Given the description of an element on the screen output the (x, y) to click on. 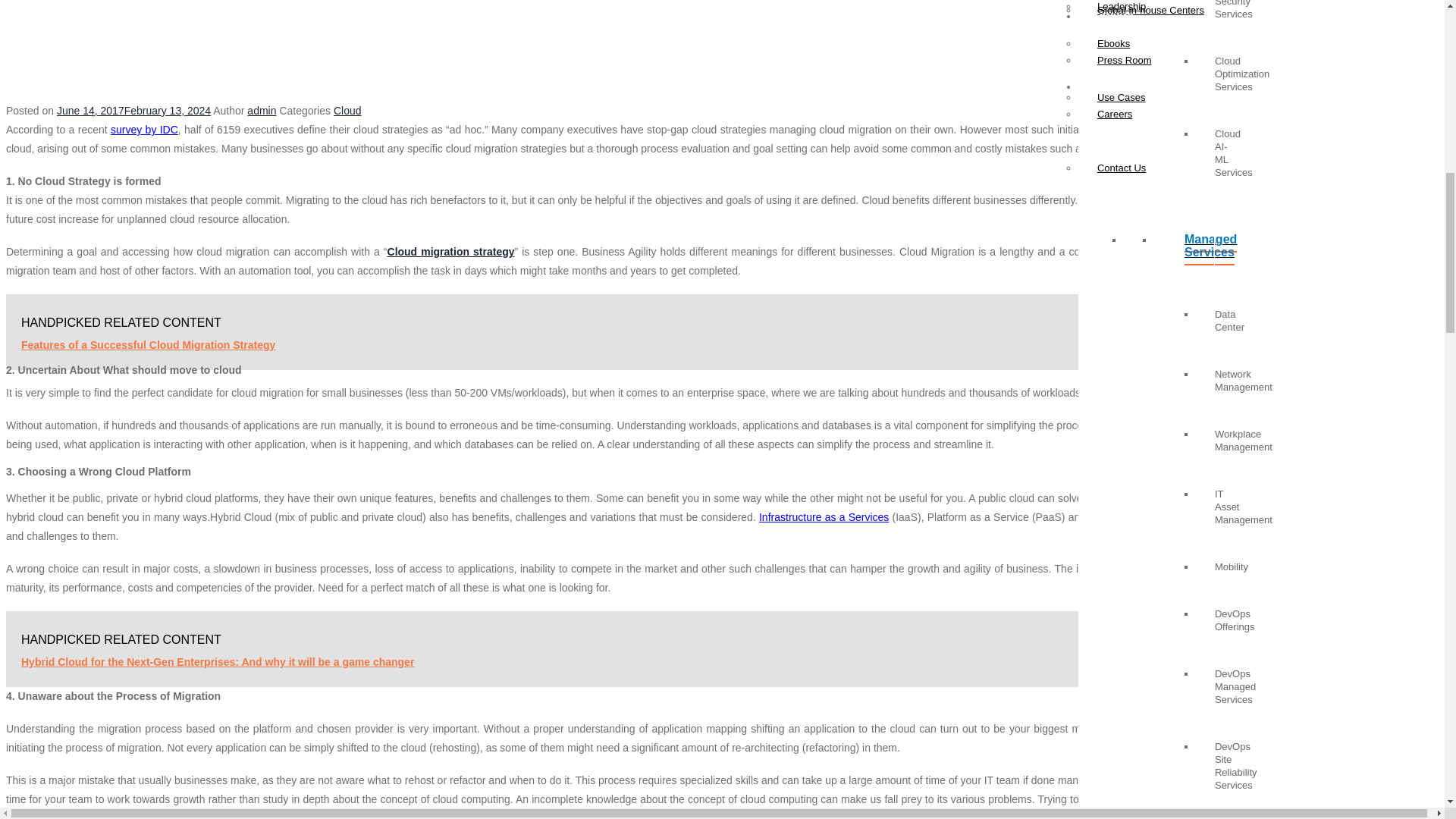
Managed Services (1185, 251)
